Given the description of an element on the screen output the (x, y) to click on. 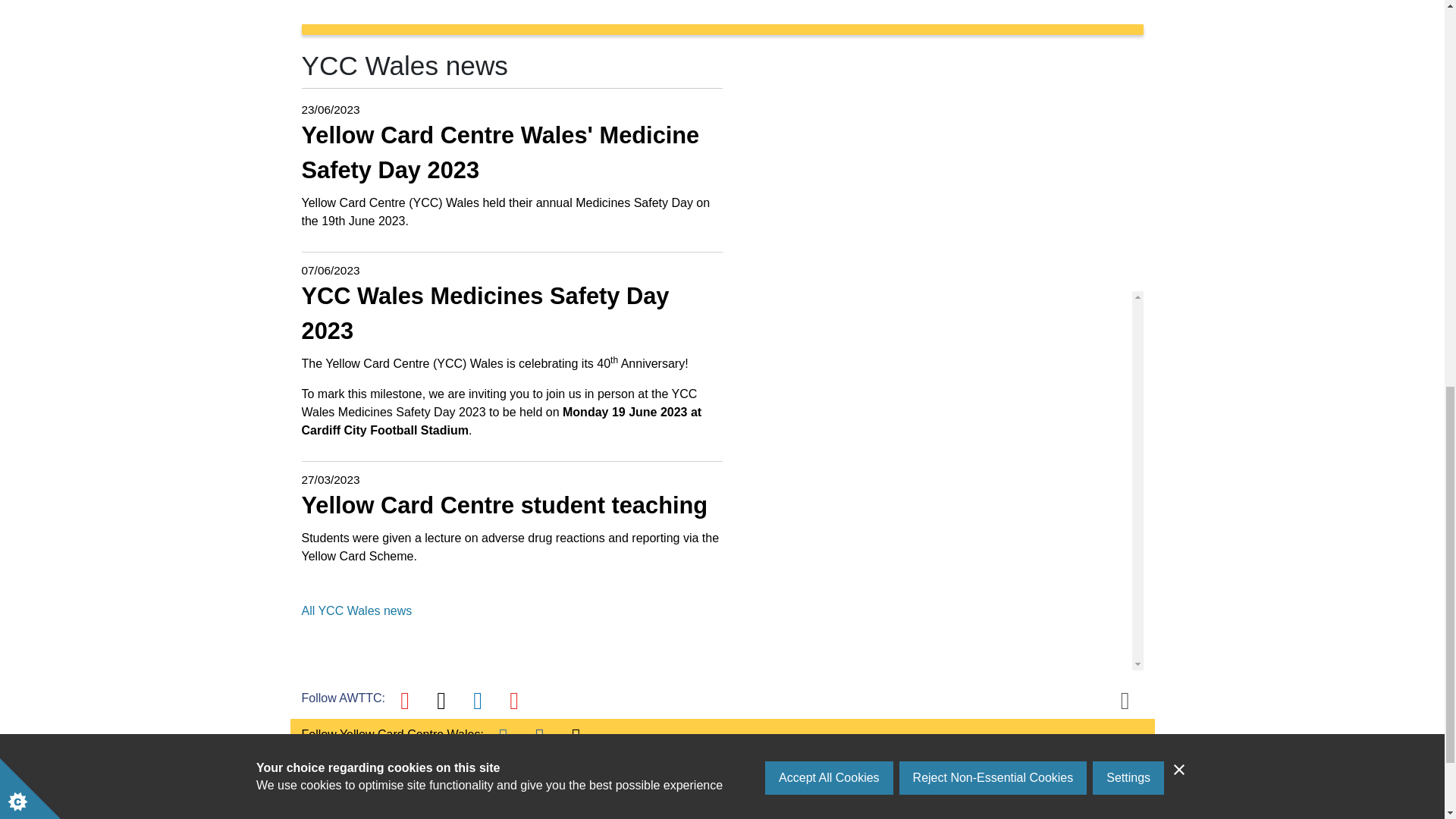
Scroll to the top of this content (1124, 700)
Linkedin (478, 700)
YouTube (405, 700)
Twitter (441, 700)
YouTube video player (933, 169)
